Given the description of an element on the screen output the (x, y) to click on. 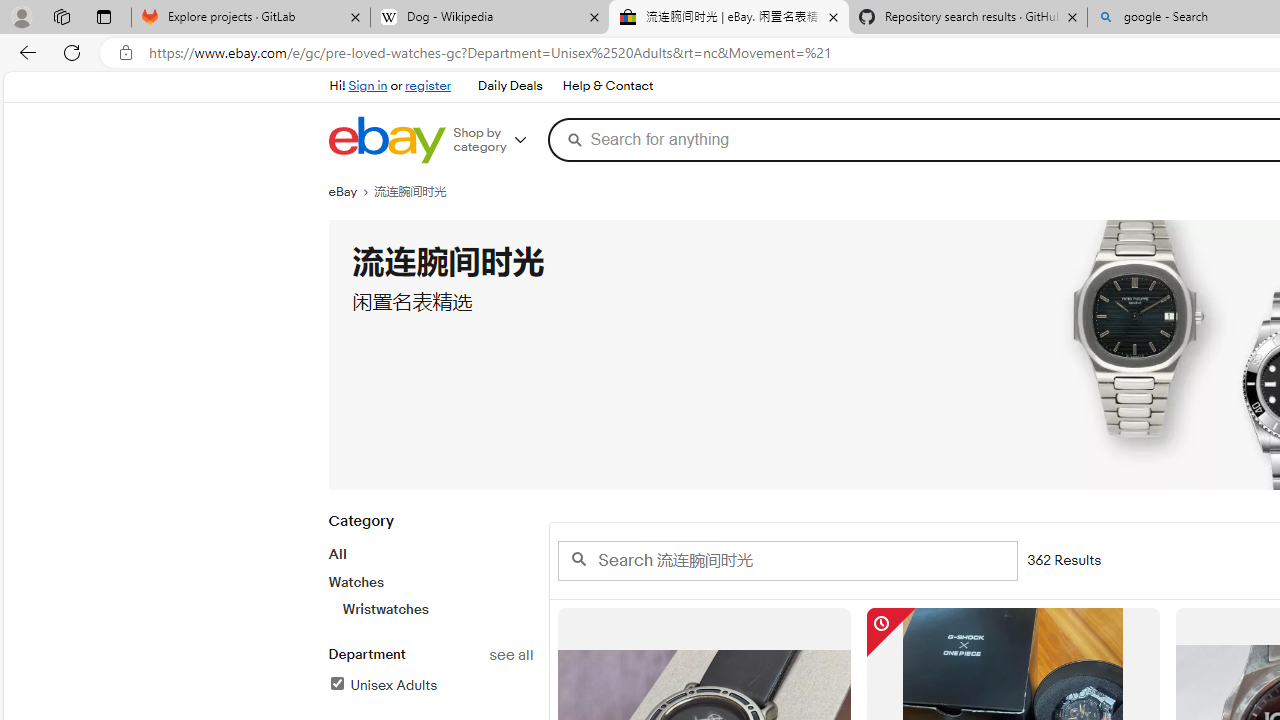
Unisex Adults Filter Applied (381, 685)
AllWatchesWristwatches (430, 581)
